Given the description of an element on the screen output the (x, y) to click on. 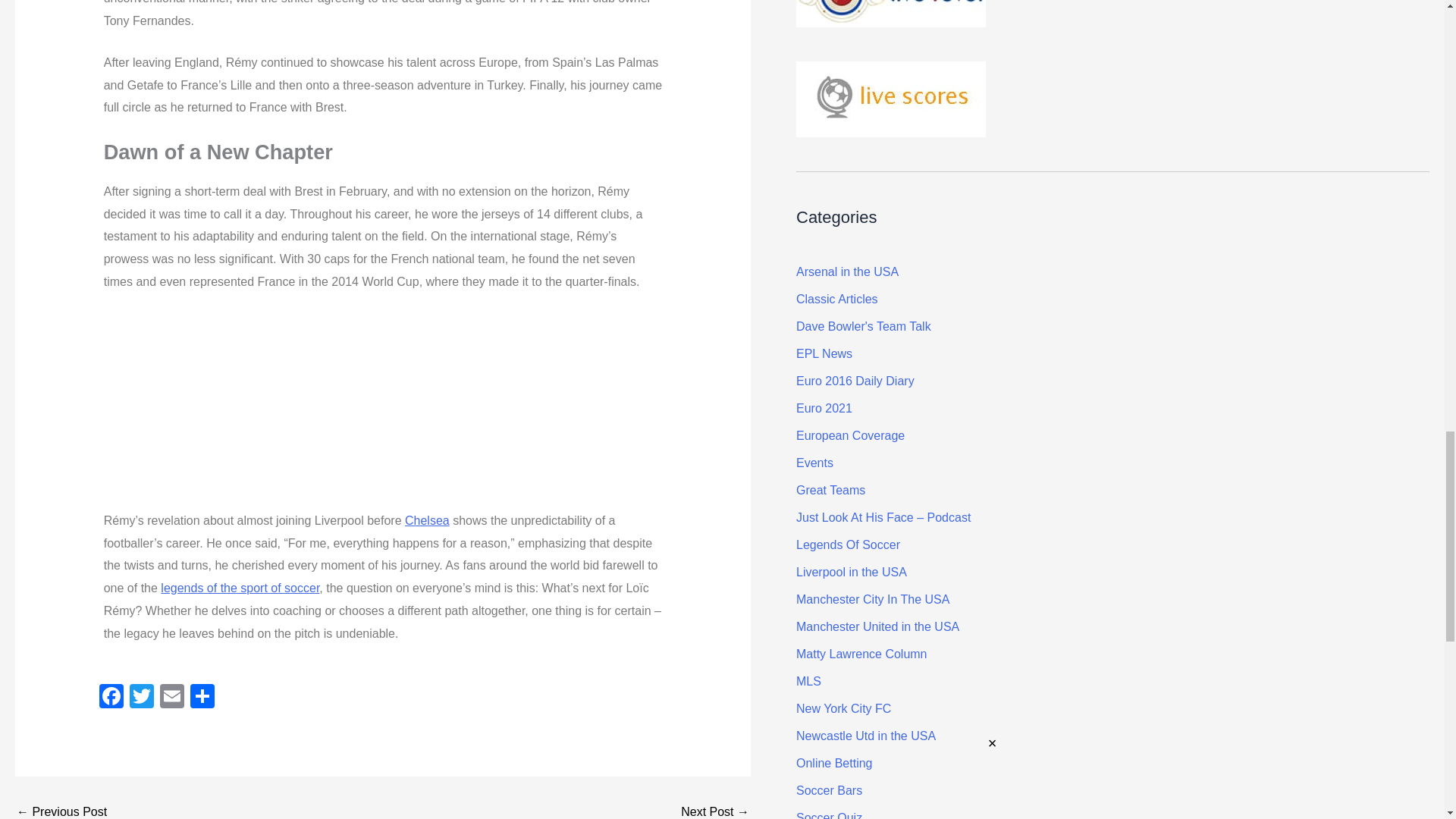
Health Benefits of Wooden Standing Desks (61, 811)
Liverpool in the USA (851, 571)
legends of the sport of soccer (239, 587)
Events (814, 462)
Twitter (141, 697)
Email (172, 697)
Chelsea (426, 520)
Manchester City In The USA (872, 599)
PayID - Payment method for online gambling (715, 811)
EPL News (823, 353)
Arsenal in the USA (847, 271)
Facebook (111, 697)
Legends Of Soccer (847, 544)
Facebook (111, 697)
Twitter (141, 697)
